Given the description of an element on the screen output the (x, y) to click on. 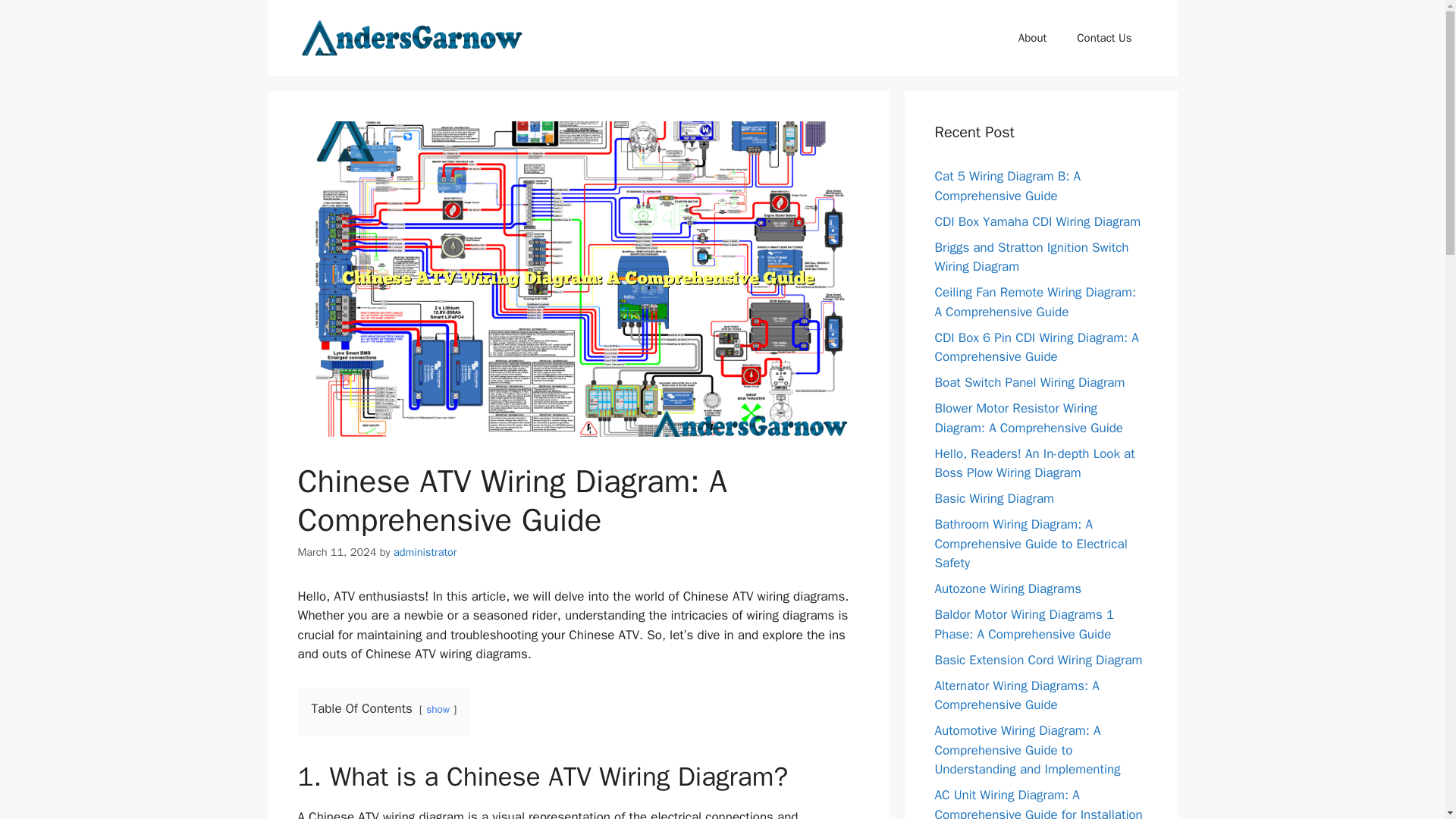
Cat 5 Wiring Diagram B: A Comprehensive Guide (1007, 185)
administrator (425, 551)
Basic Wiring Diagram (994, 498)
Boat Switch Panel Wiring Diagram (1029, 382)
Contact Us (1104, 37)
Basic Extension Cord Wiring Diagram (1037, 659)
Ceiling Fan Remote Wiring Diagram: A Comprehensive Guide (1034, 302)
show (437, 708)
